Given the description of an element on the screen output the (x, y) to click on. 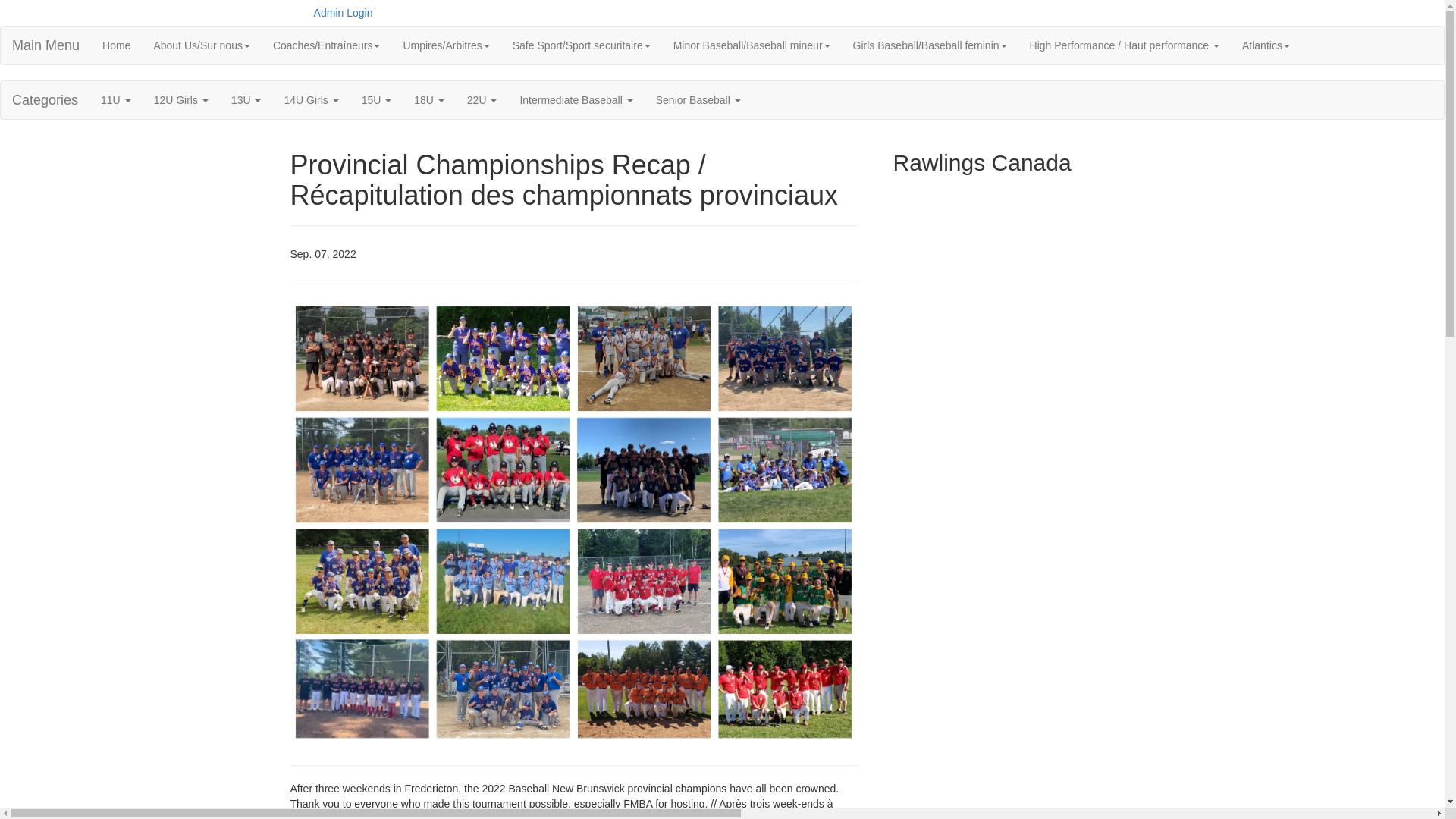
 Admin Login
Admin Login Element type: text (341, 12)
13U Element type: text (246, 100)
High Performance / Haut performance Element type: text (1124, 45)
Minor Baseball/Baseball mineur Element type: text (751, 45)
15U Element type: text (376, 100)
Twitter Element type: text (1133, 8)
Intermediate Baseball Element type: text (575, 100)
14U Girls Element type: text (310, 100)
12U Girls Element type: text (180, 100)
Facebook Element type: text (1110, 8)
22U Element type: text (481, 100)
Atlantics Element type: text (1265, 45)
Safe Sport/Sport securitaire Element type: text (581, 45)
Main Menu Element type: text (45, 45)
Umpires/Arbitres Element type: text (445, 45)
Home Element type: text (116, 45)
Categories Element type: text (44, 100)
About Us/Sur nous Element type: text (201, 45)
11U Element type: text (115, 100)
18U Element type: text (428, 100)
Senior Baseball Element type: text (698, 100)
Girls Baseball/Baseball feminin Element type: text (929, 45)
